Given the description of an element on the screen output the (x, y) to click on. 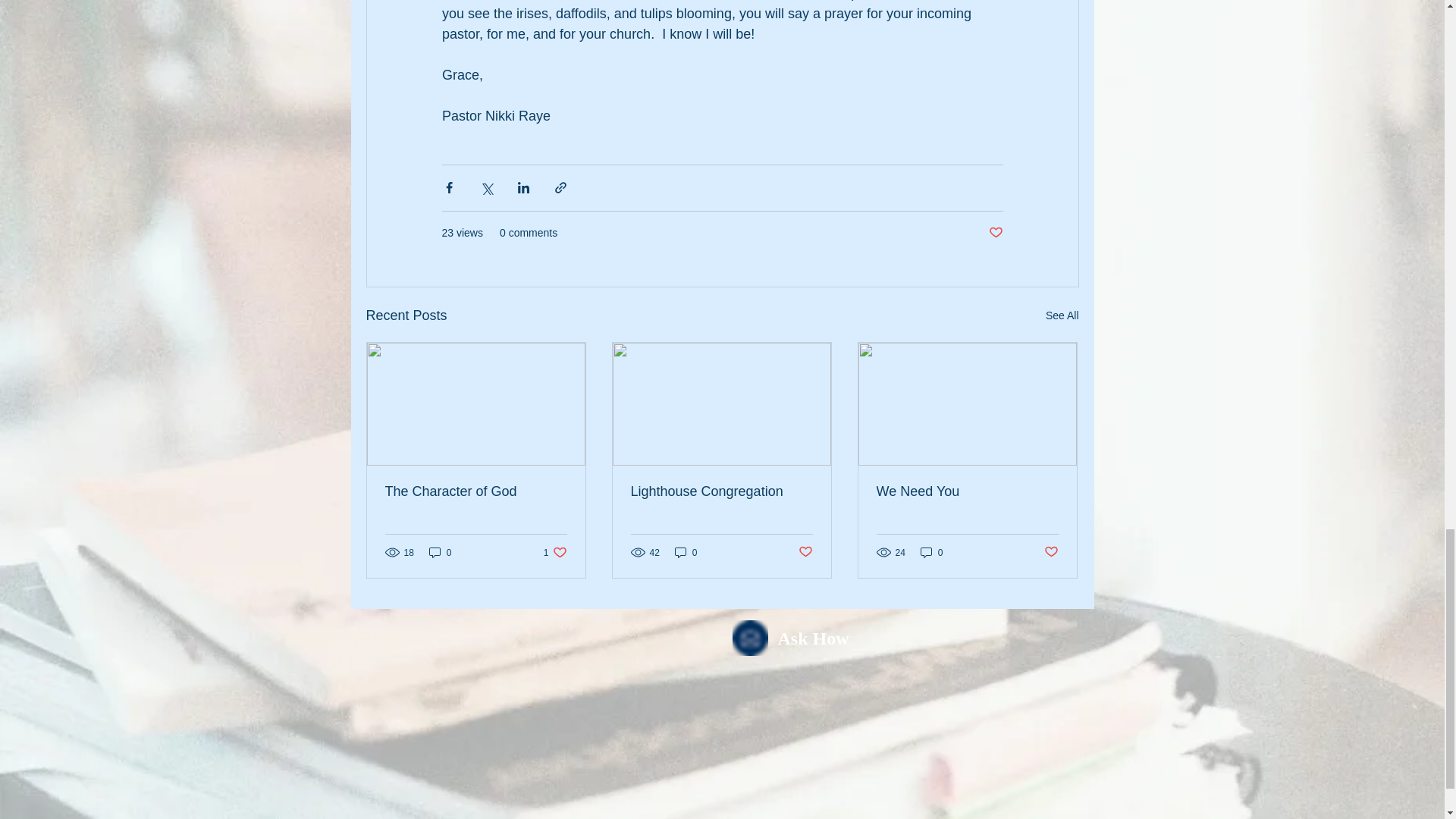
0 (440, 552)
Post not marked as liked (995, 232)
The Character of God (476, 491)
We Need You (967, 491)
0 (931, 552)
0 (685, 552)
Lighthouse Congregation (721, 491)
Post not marked as liked (555, 552)
Post not marked as liked (804, 552)
See All (1050, 552)
